Given the description of an element on the screen output the (x, y) to click on. 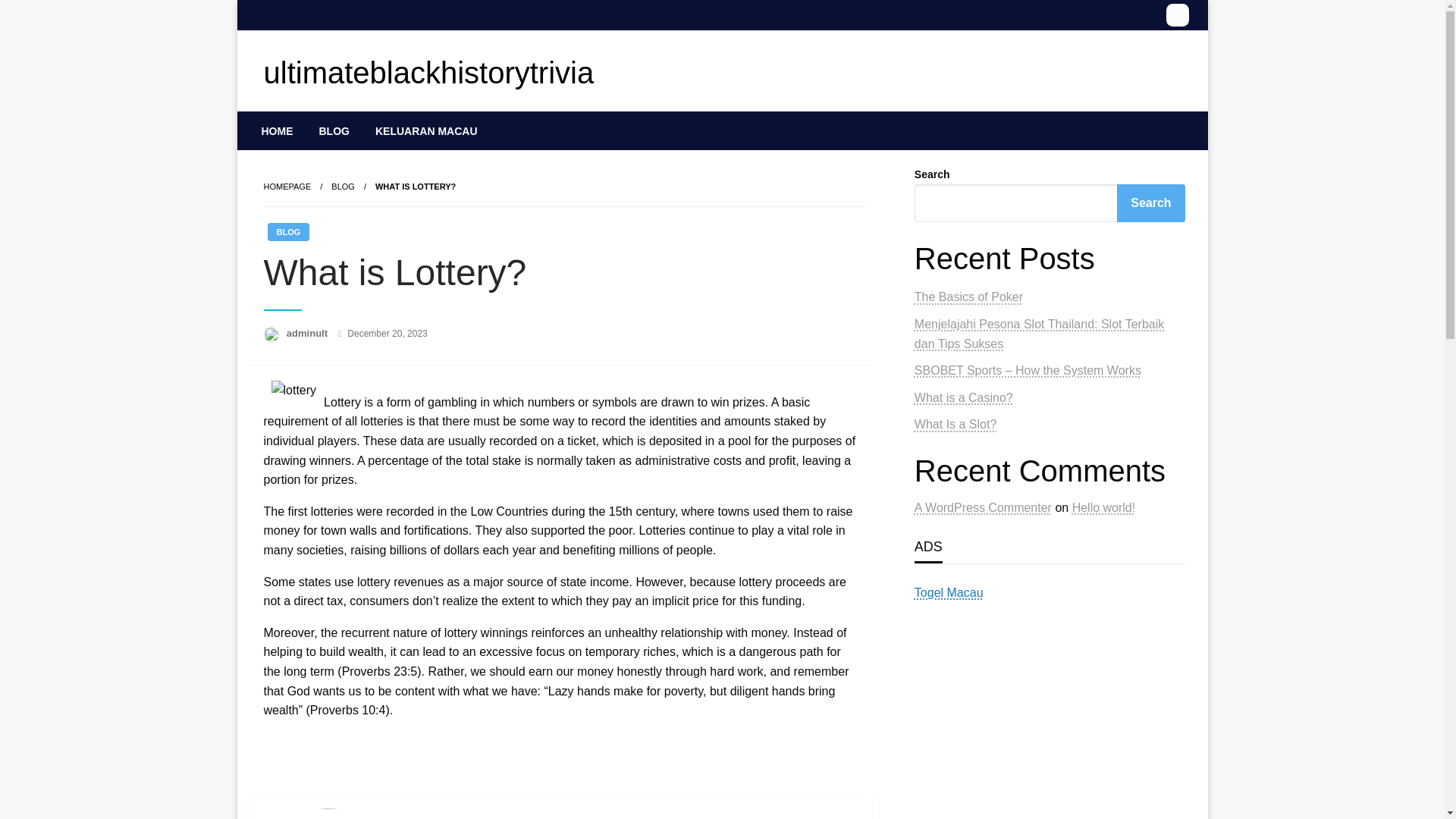
HOMEPAGE (287, 185)
What is Lottery? (415, 185)
The Importance of Poker (981, 350)
Togel Macau (949, 572)
ultimateblackhistorytrivia (428, 72)
Sbobet Review (954, 377)
A WordPress Commenter (982, 487)
BLOG (287, 231)
Blog (343, 185)
KELUARAN MACAU (426, 130)
